Given the description of an element on the screen output the (x, y) to click on. 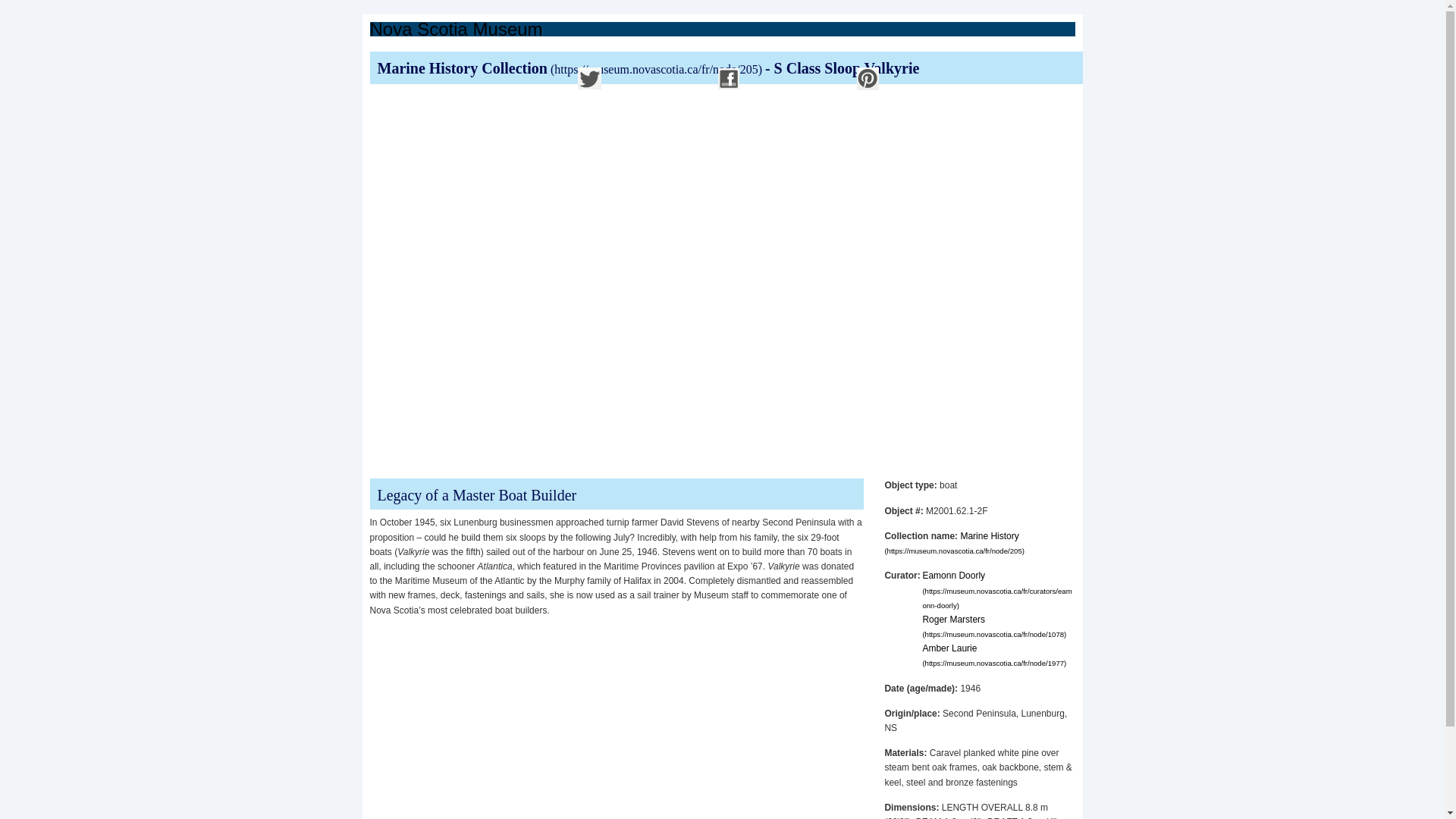
Facebook (728, 78)
Marine History Collection (571, 67)
Home (456, 28)
Twitter (589, 78)
Marine History (954, 543)
Pinterest (867, 78)
Eamonn Doorly (996, 589)
Nova Scotia Museum (456, 28)
Roger Marsters (993, 626)
Amber Laurie (993, 655)
